Given the description of an element on the screen output the (x, y) to click on. 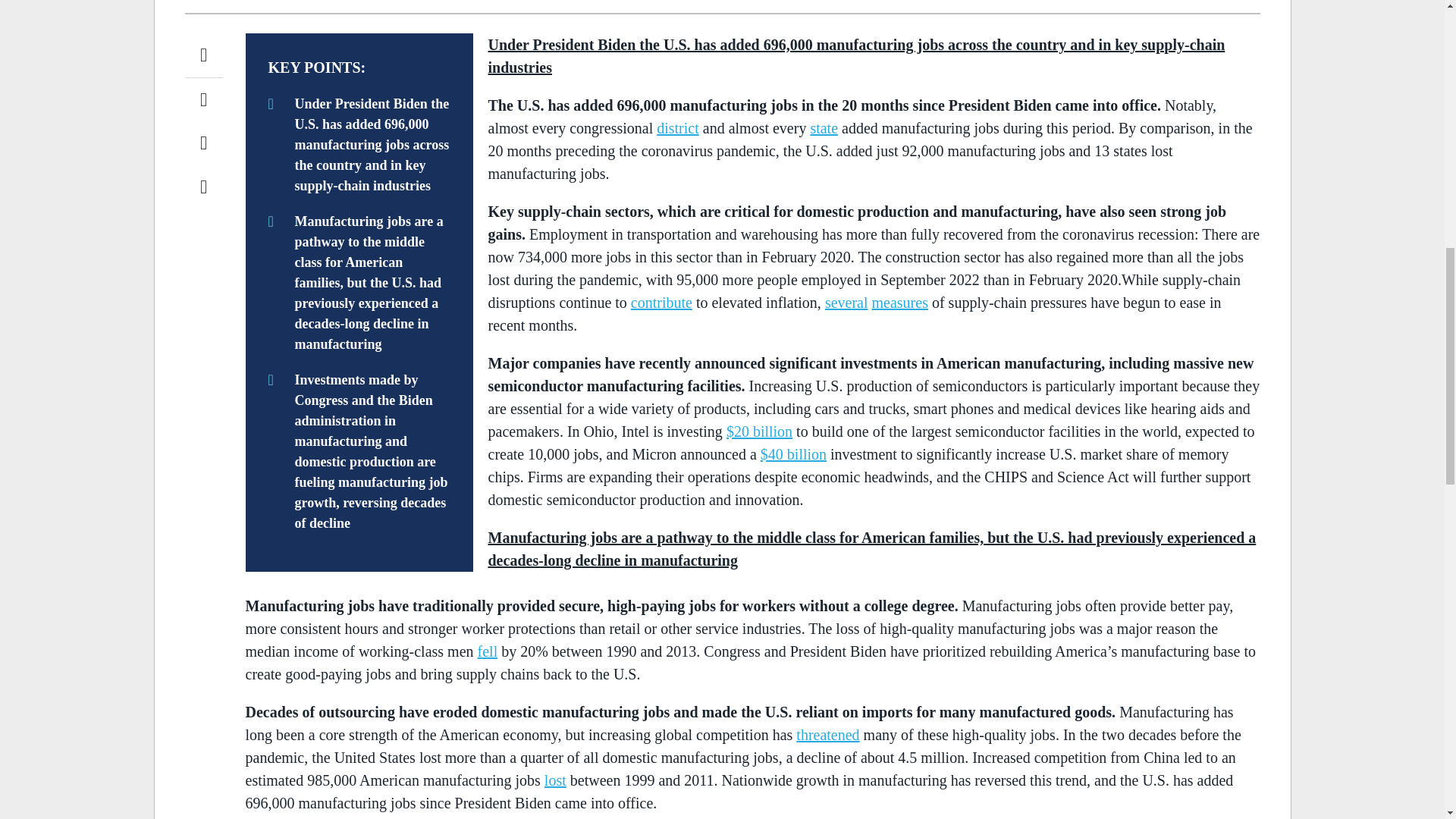
contribute (661, 302)
district (677, 127)
lost (555, 780)
fell (487, 651)
threatened (827, 734)
measures (900, 302)
state (823, 127)
several (846, 302)
